Given the description of an element on the screen output the (x, y) to click on. 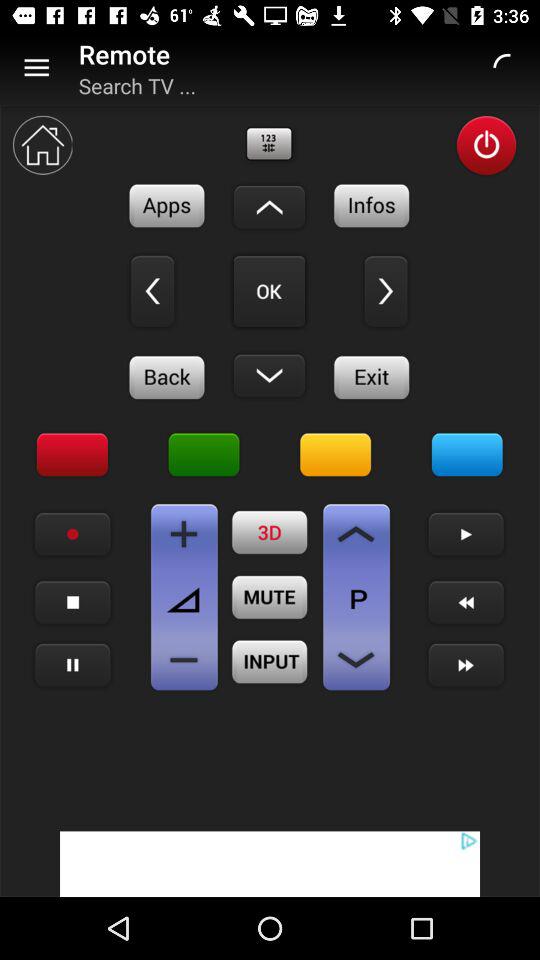
go back (152, 291)
